Given the description of an element on the screen output the (x, y) to click on. 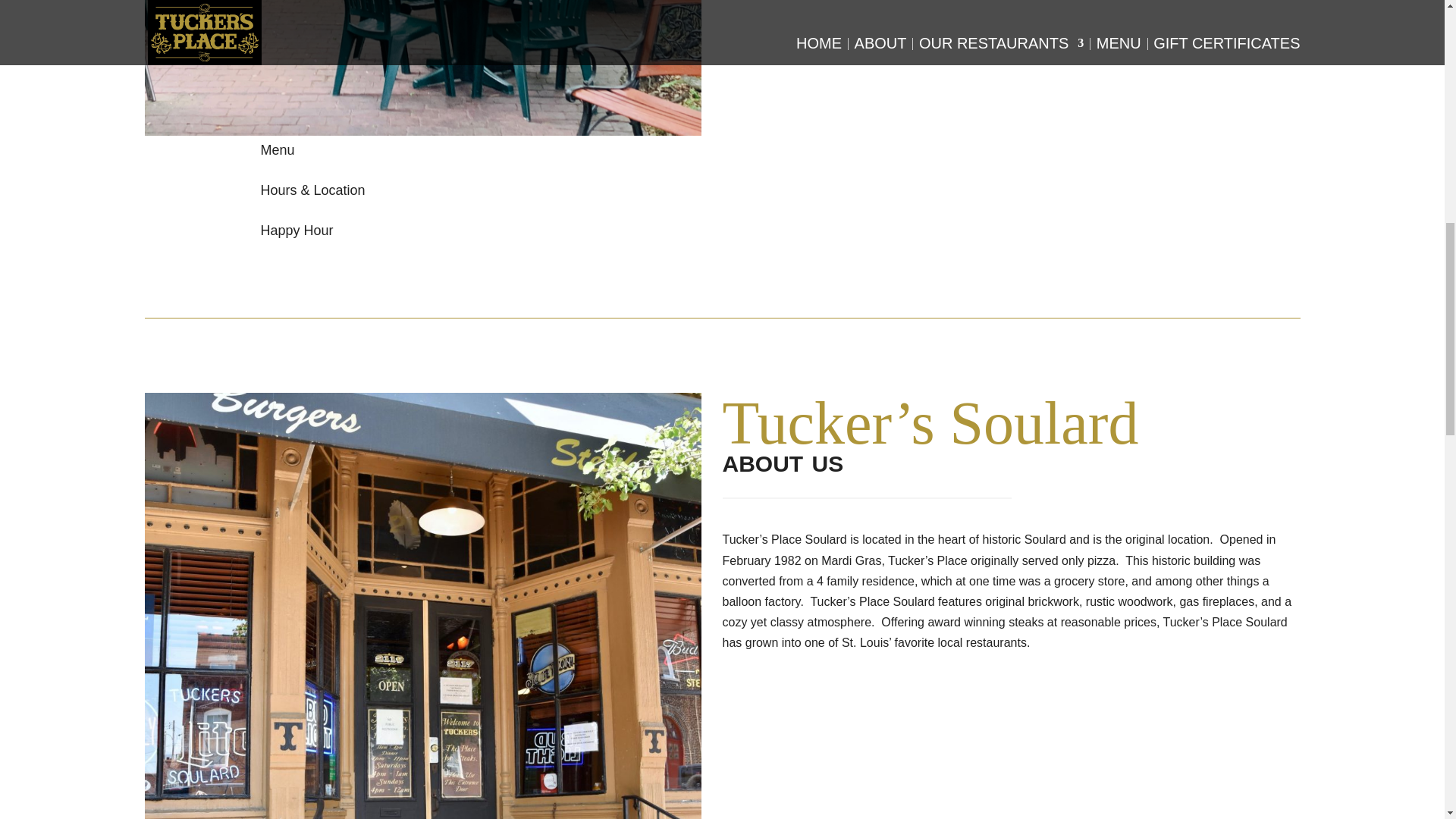
Menu (277, 150)
TuckersWest (422, 67)
Happy Hour (296, 230)
